Given the description of an element on the screen output the (x, y) to click on. 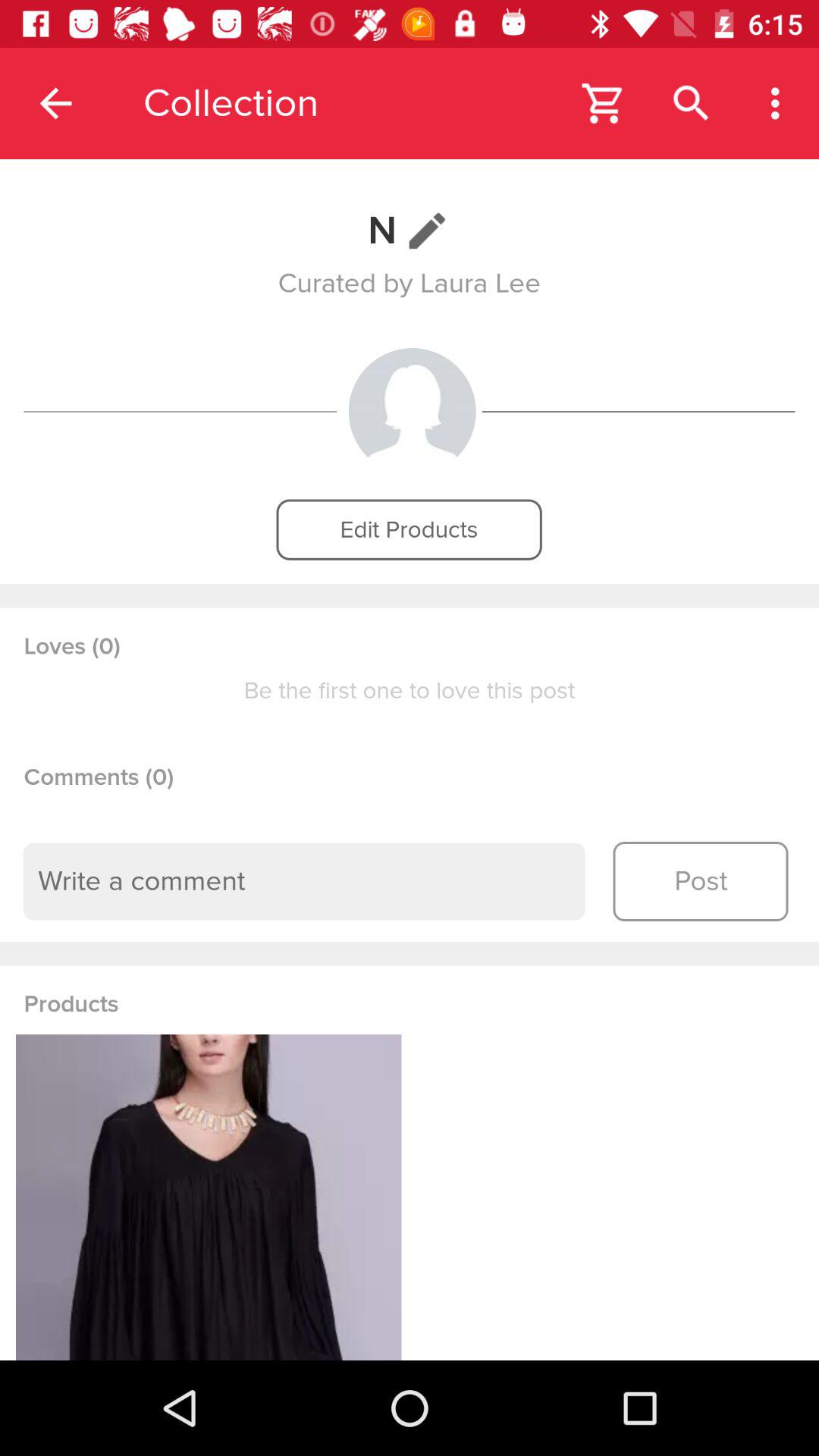
comment field (304, 881)
